Given the description of an element on the screen output the (x, y) to click on. 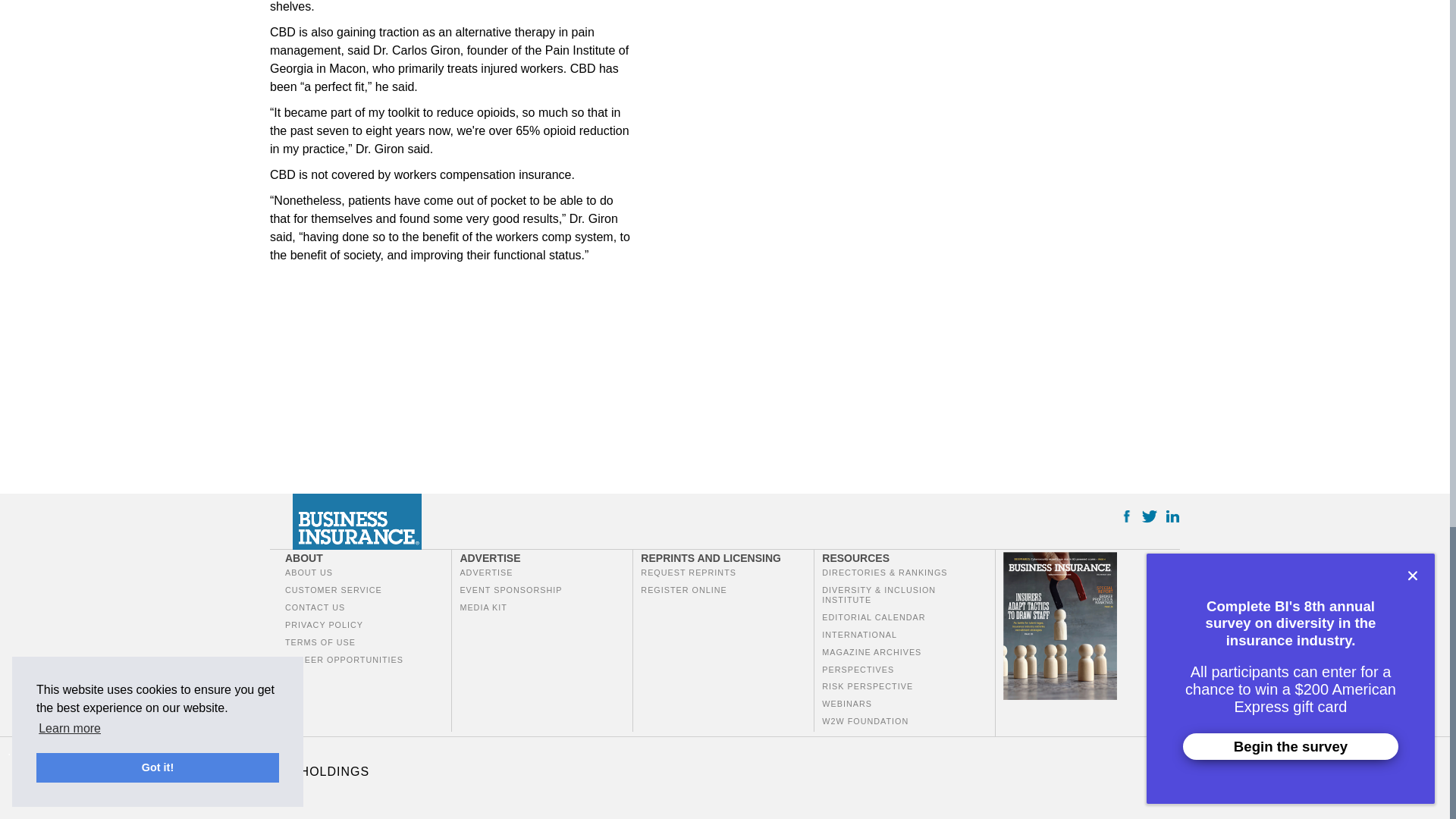
3rd party ad content (383, 374)
